Given the description of an element on the screen output the (x, y) to click on. 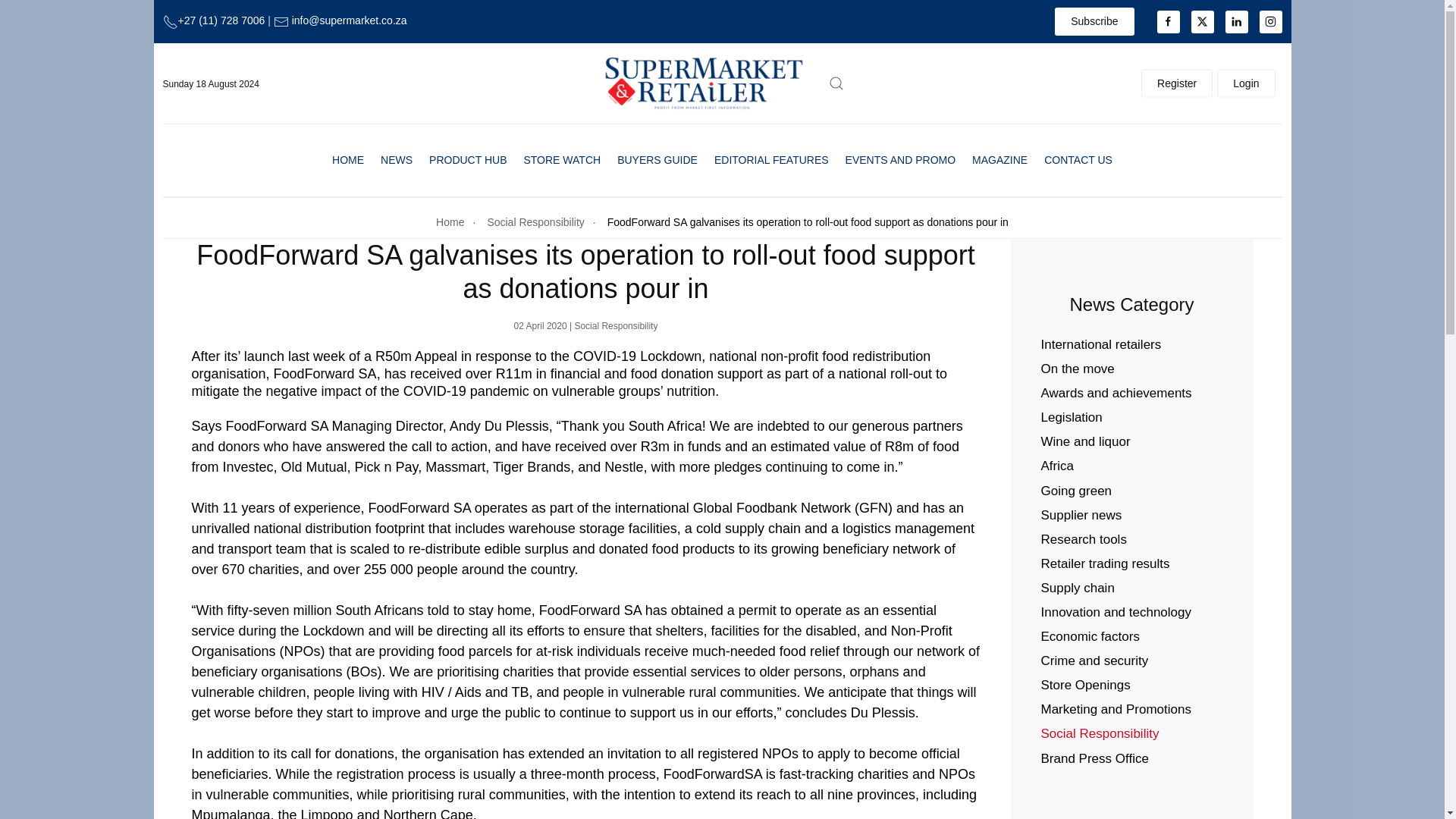
Subscribe (1094, 21)
Login (1246, 83)
Register (1176, 83)
